Given the description of an element on the screen output the (x, y) to click on. 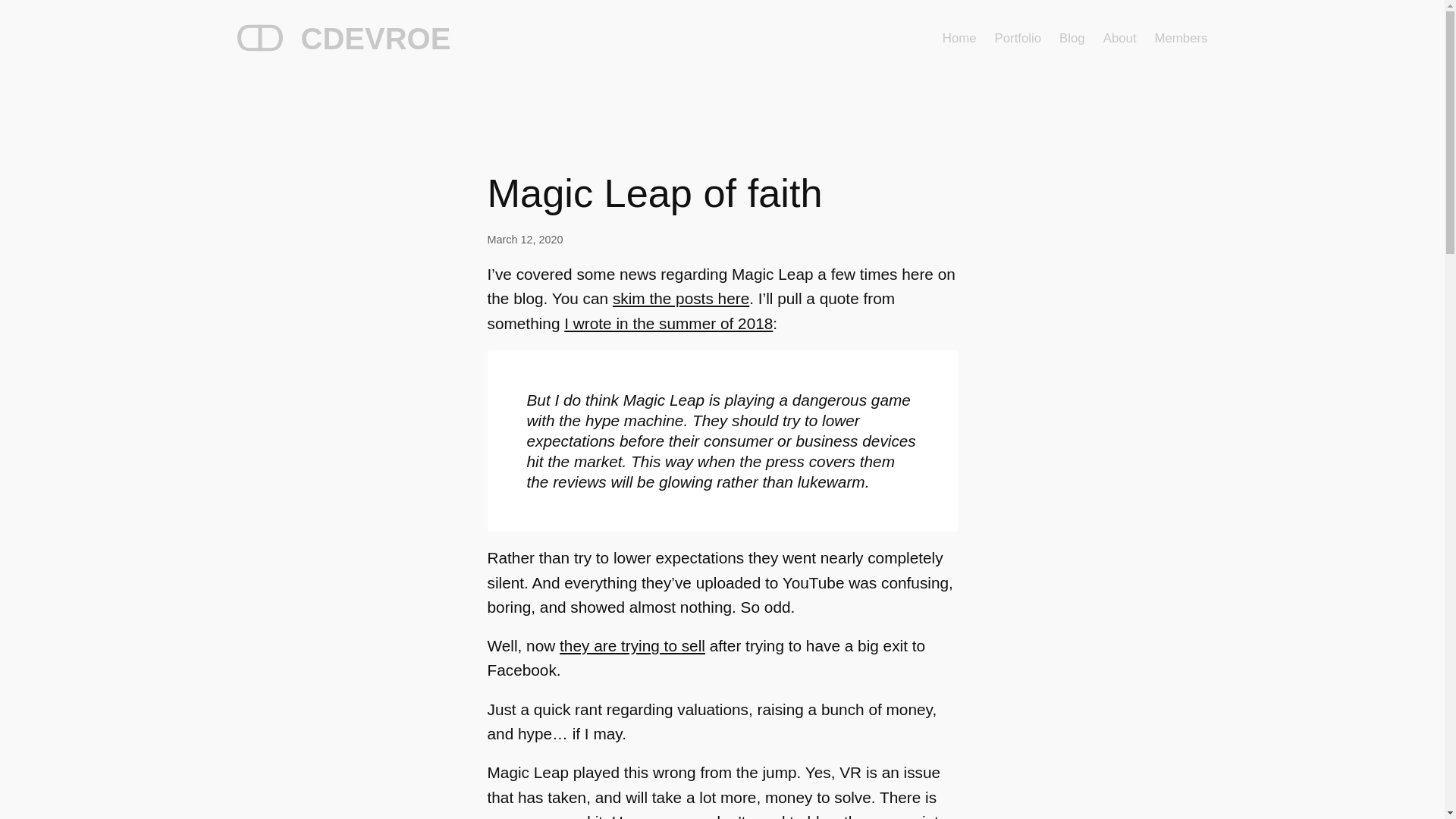
they are trying to sell (631, 645)
March 12, 2020 (524, 239)
skim the posts here (680, 298)
About (1120, 38)
Portfolio (1018, 38)
CDEVROE (374, 38)
Blog (1071, 38)
I wrote in the summer of 2018 (668, 323)
Home (959, 38)
Members (1181, 38)
